Given the description of an element on the screen output the (x, y) to click on. 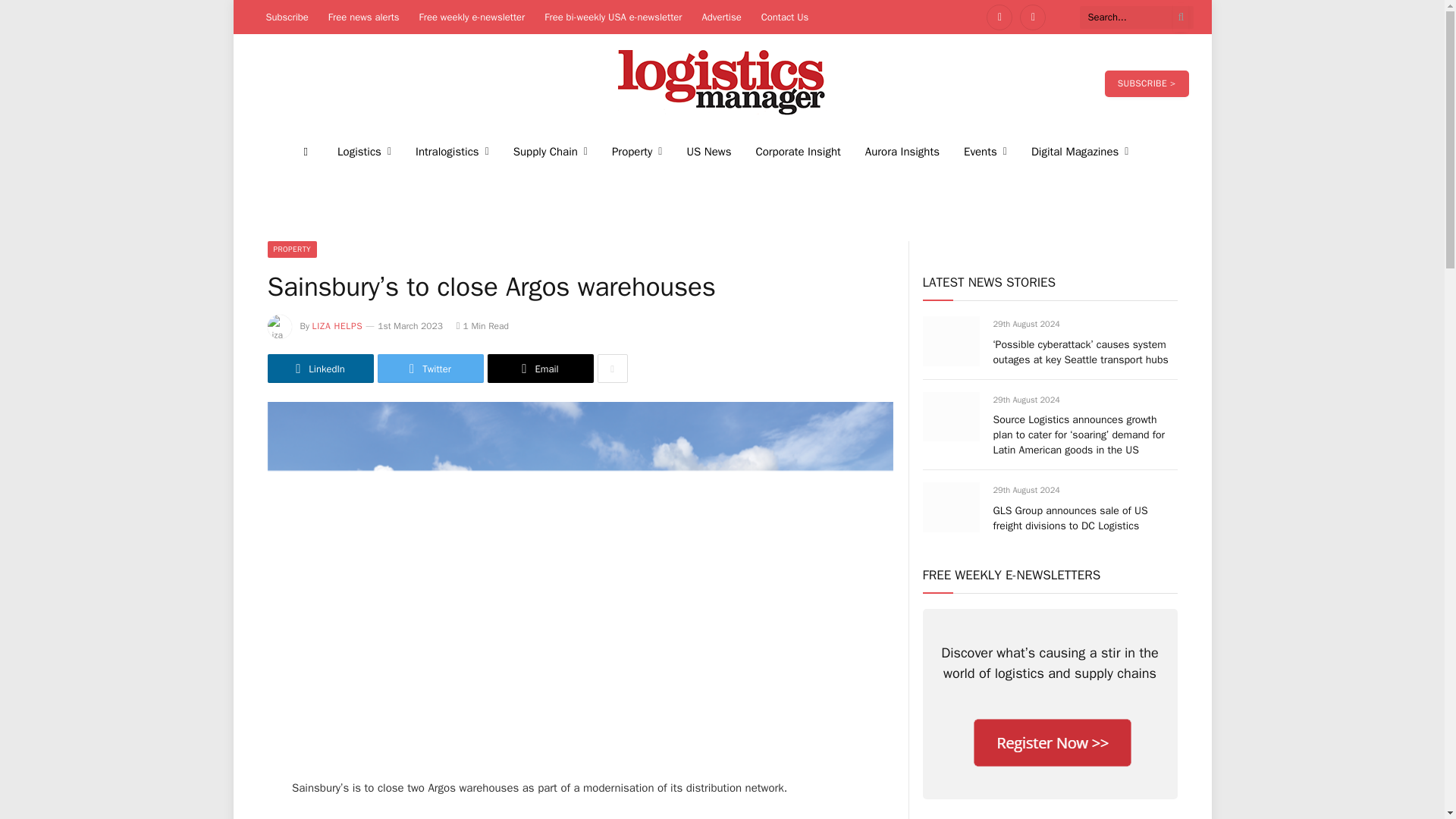
Share via Email (539, 368)
Logistics Manager (722, 83)
Show More Social Sharing (611, 368)
Posts by Liza Helps (337, 326)
Share on LinkedIn (319, 368)
